Given the description of an element on the screen output the (x, y) to click on. 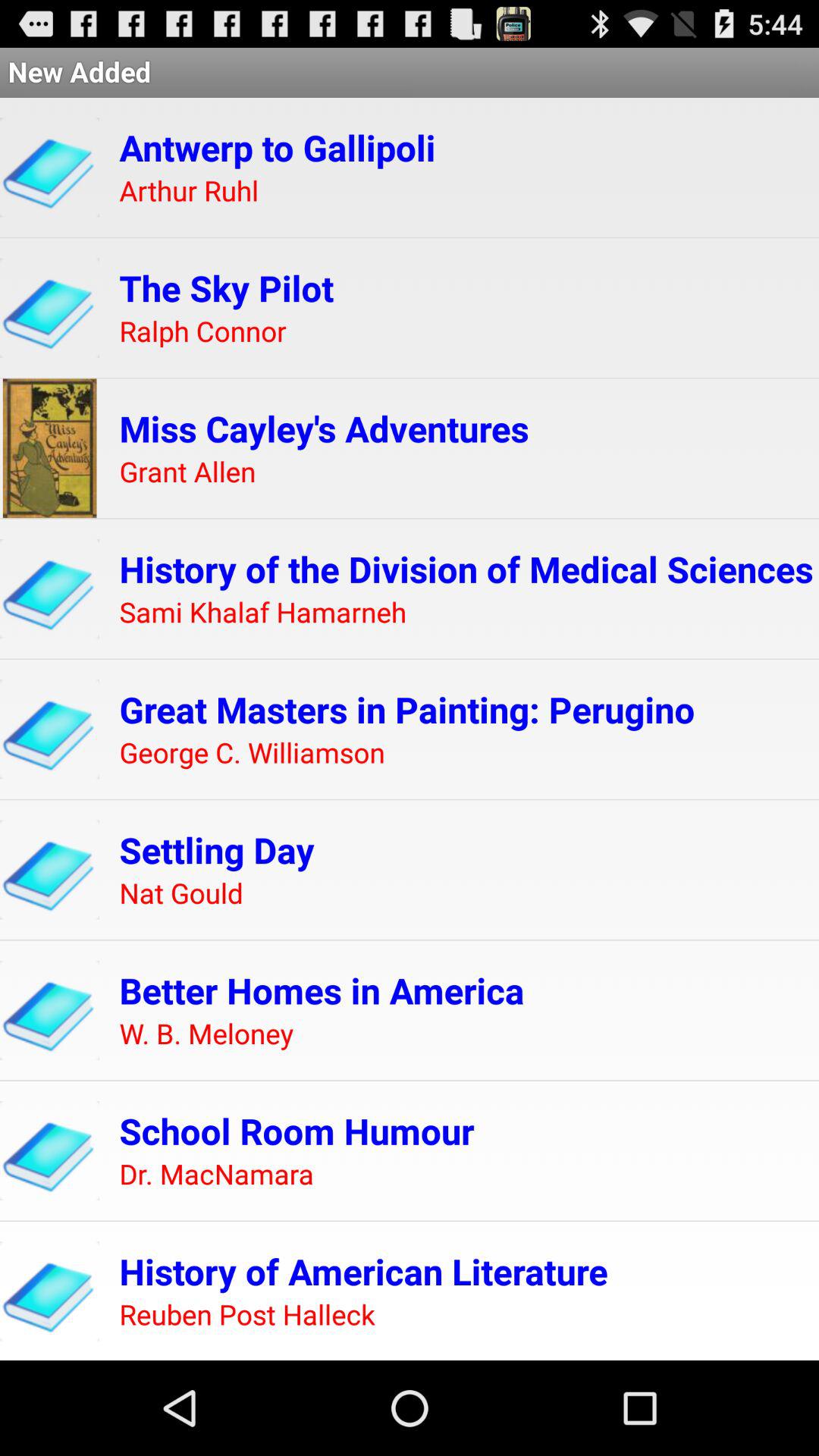
launch the school room humour (296, 1130)
